Given the description of an element on the screen output the (x, y) to click on. 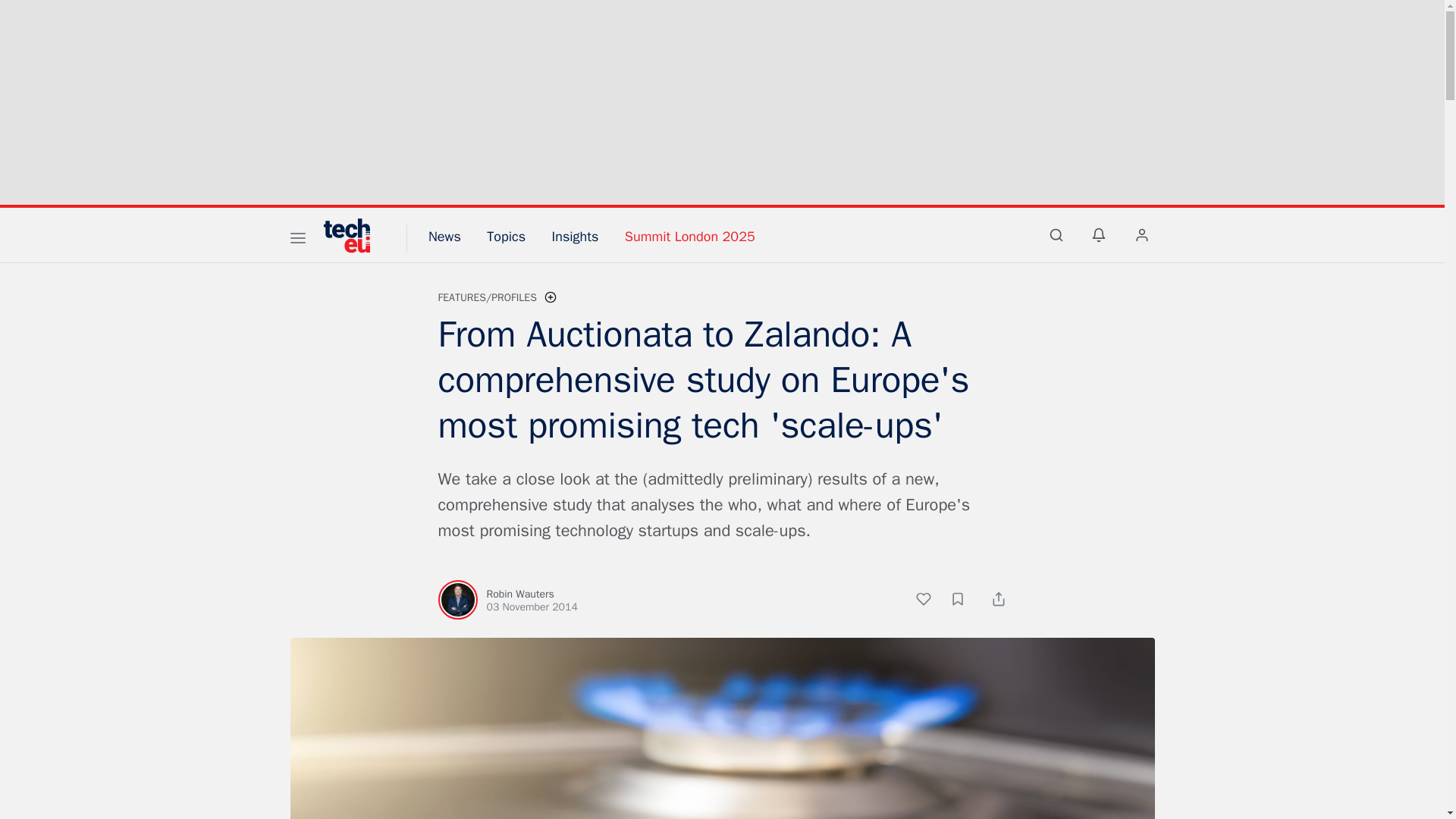
Summit London 2025 (689, 236)
News (444, 236)
Insights (574, 236)
Add to Collection (964, 600)
Topics (505, 236)
Like (930, 600)
